Given the description of an element on the screen output the (x, y) to click on. 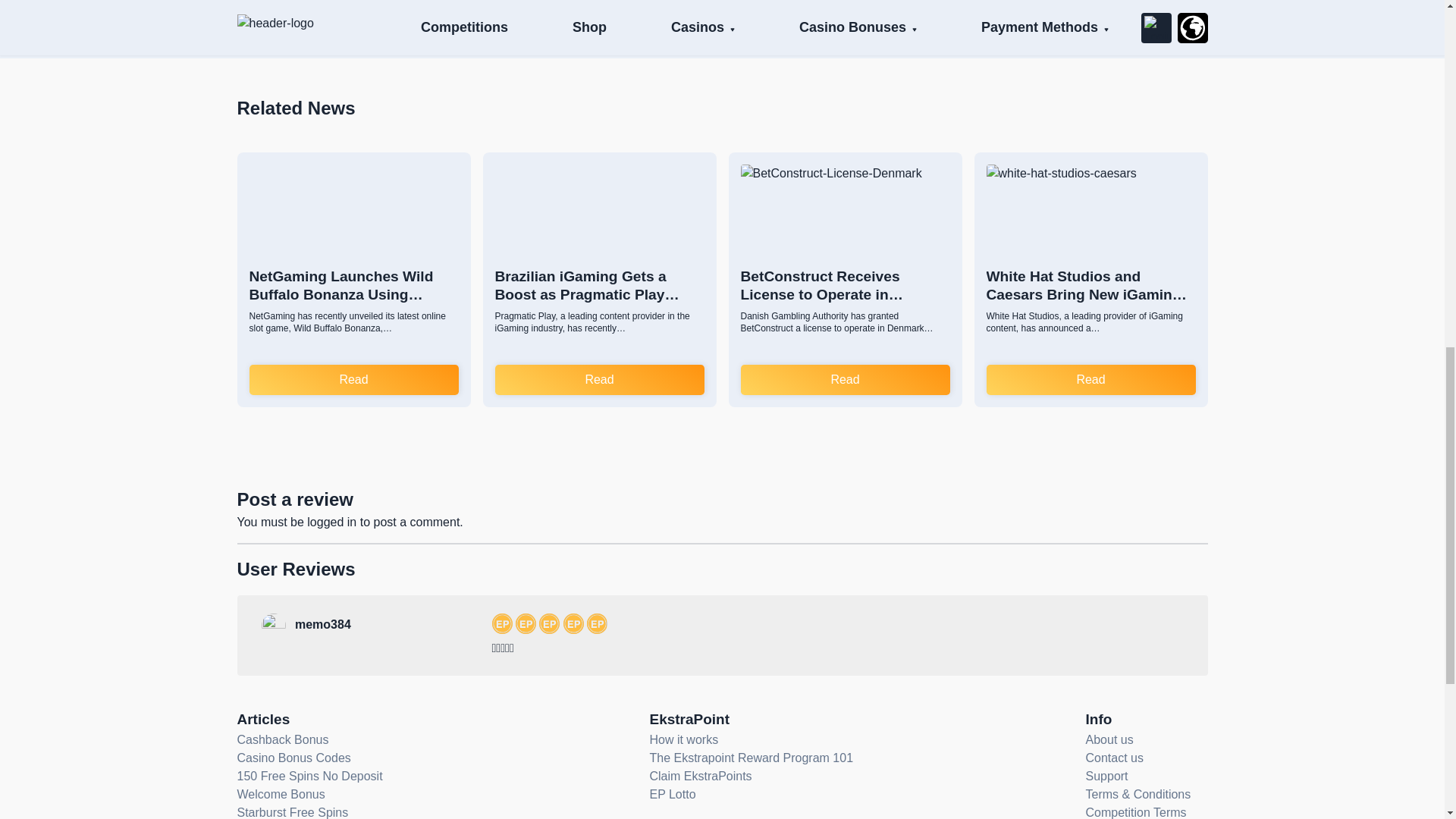
pragmatic-play-partnership-win-premios (599, 206)
NetGaming-Wild-Buffalo-Bonanza (353, 206)
BetConstruct-License-Denmark (844, 206)
